Given the description of an element on the screen output the (x, y) to click on. 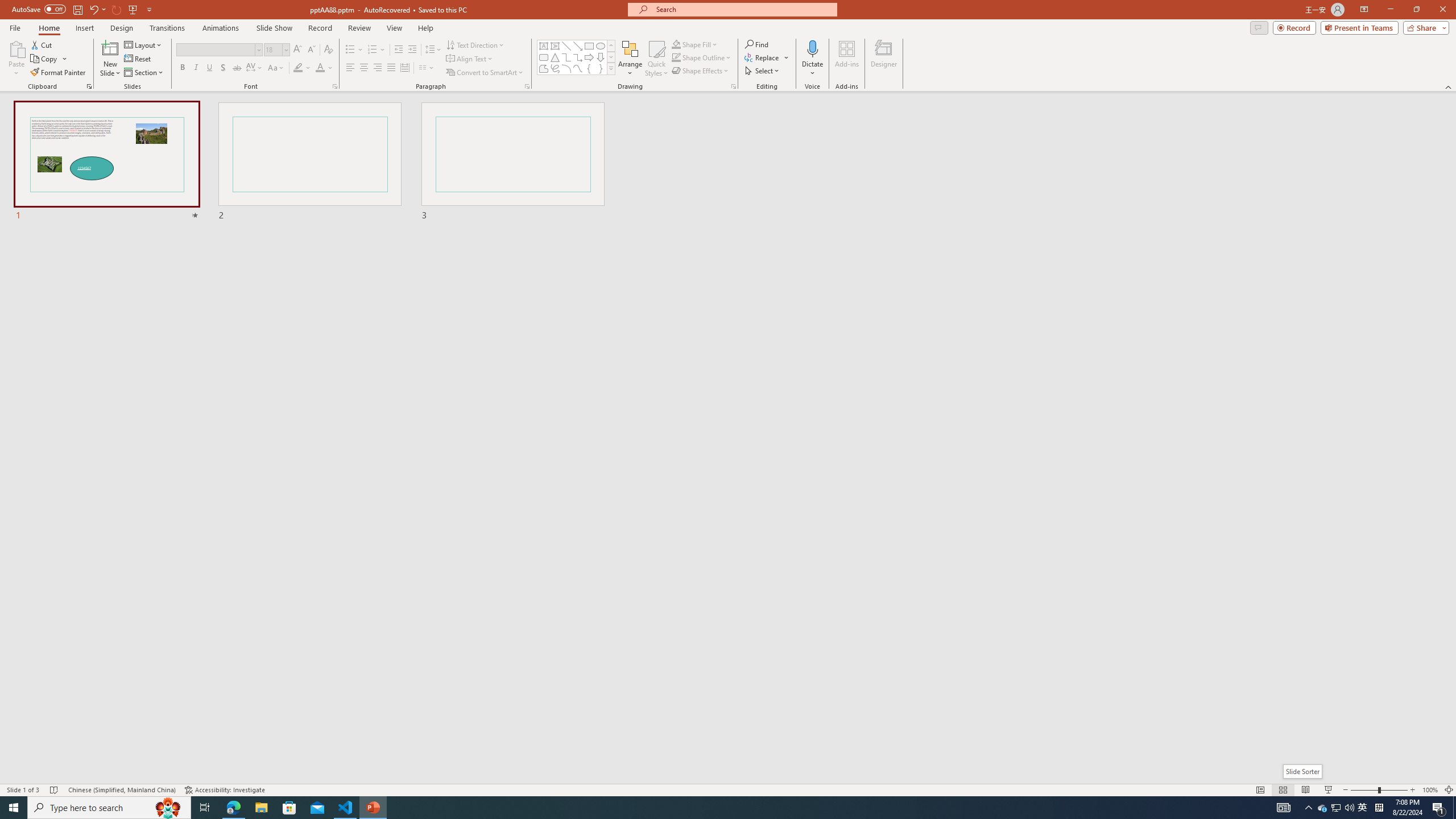
Line (566, 45)
Font Color (324, 67)
